Given the description of an element on the screen output the (x, y) to click on. 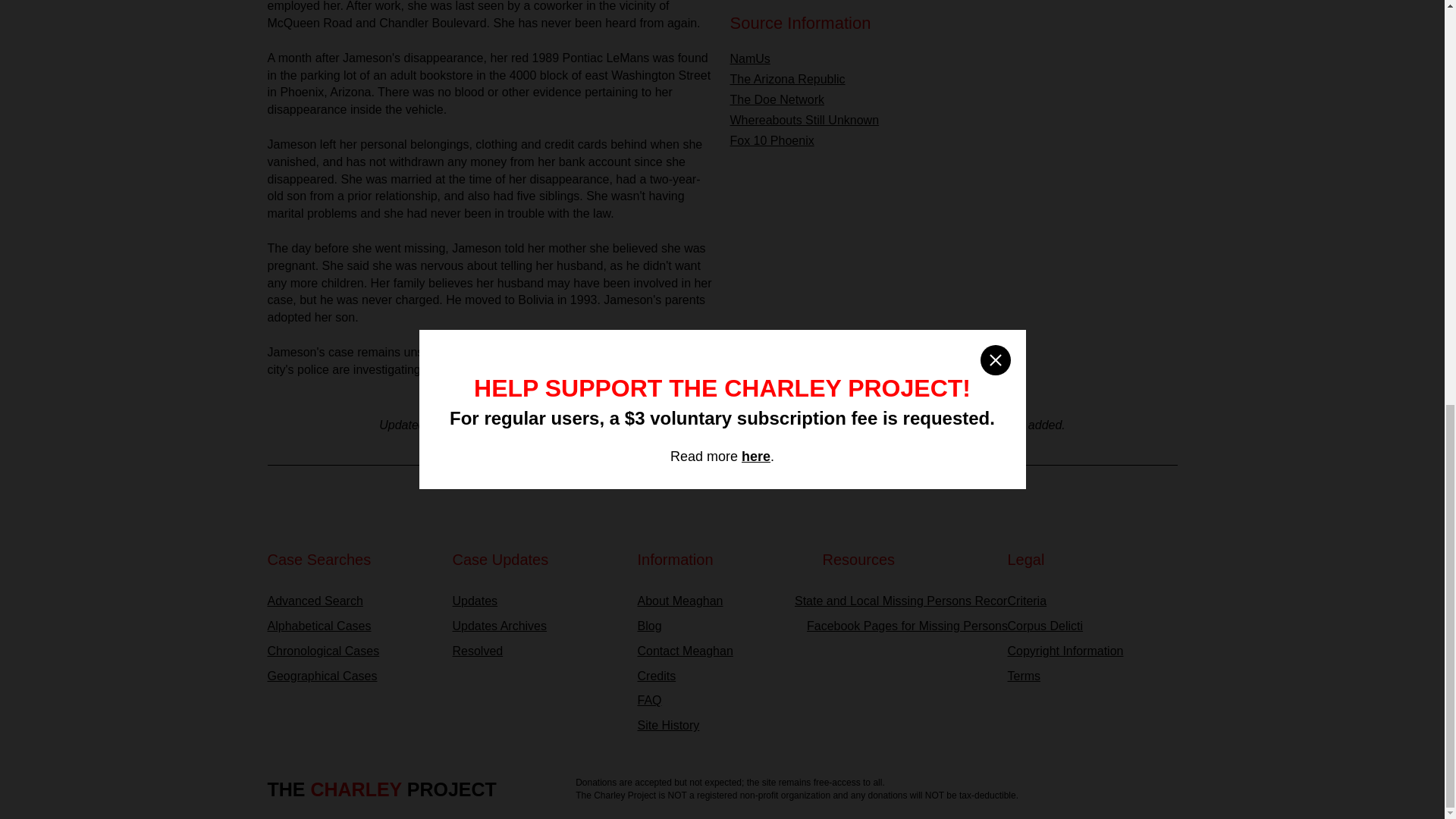
About Meaghan (721, 601)
Updates Archives (536, 626)
The Doe Network (776, 99)
Resolved (536, 651)
Advanced Search (351, 601)
NamUs (749, 58)
Chronological Cases (351, 651)
Whereabouts Still Unknown (804, 119)
Updates (536, 601)
Blog (721, 626)
Alphabetical Cases (351, 626)
Geographical Cases (351, 676)
The Arizona Republic (786, 78)
Fox 10 Phoenix (771, 140)
